Given the description of an element on the screen output the (x, y) to click on. 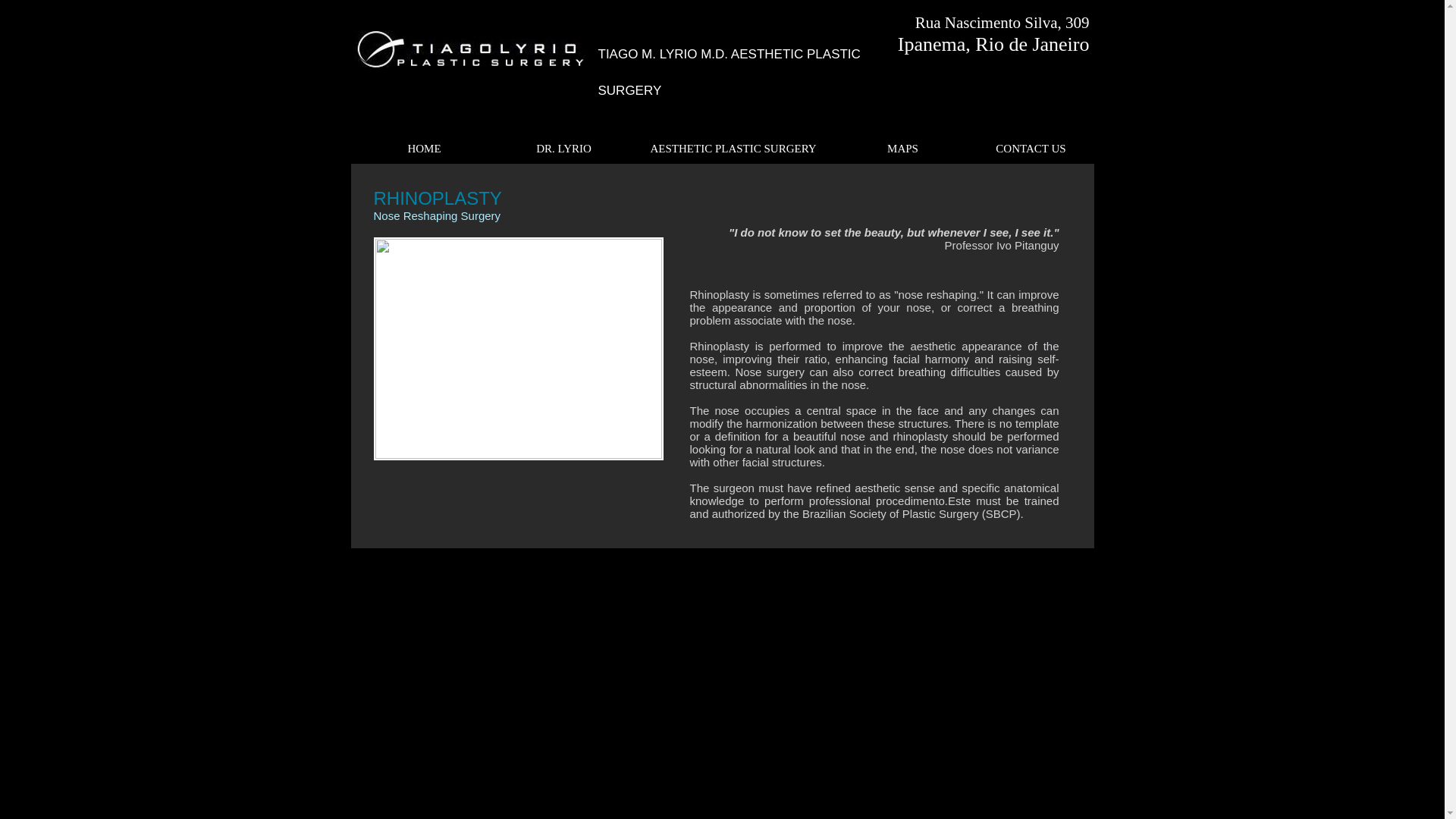
DR. LYRIO (563, 148)
MAPS (902, 148)
HOME (423, 148)
AESTHETIC PLASTIC SURGERY (733, 148)
CONTACT US (1030, 148)
